Given the description of an element on the screen output the (x, y) to click on. 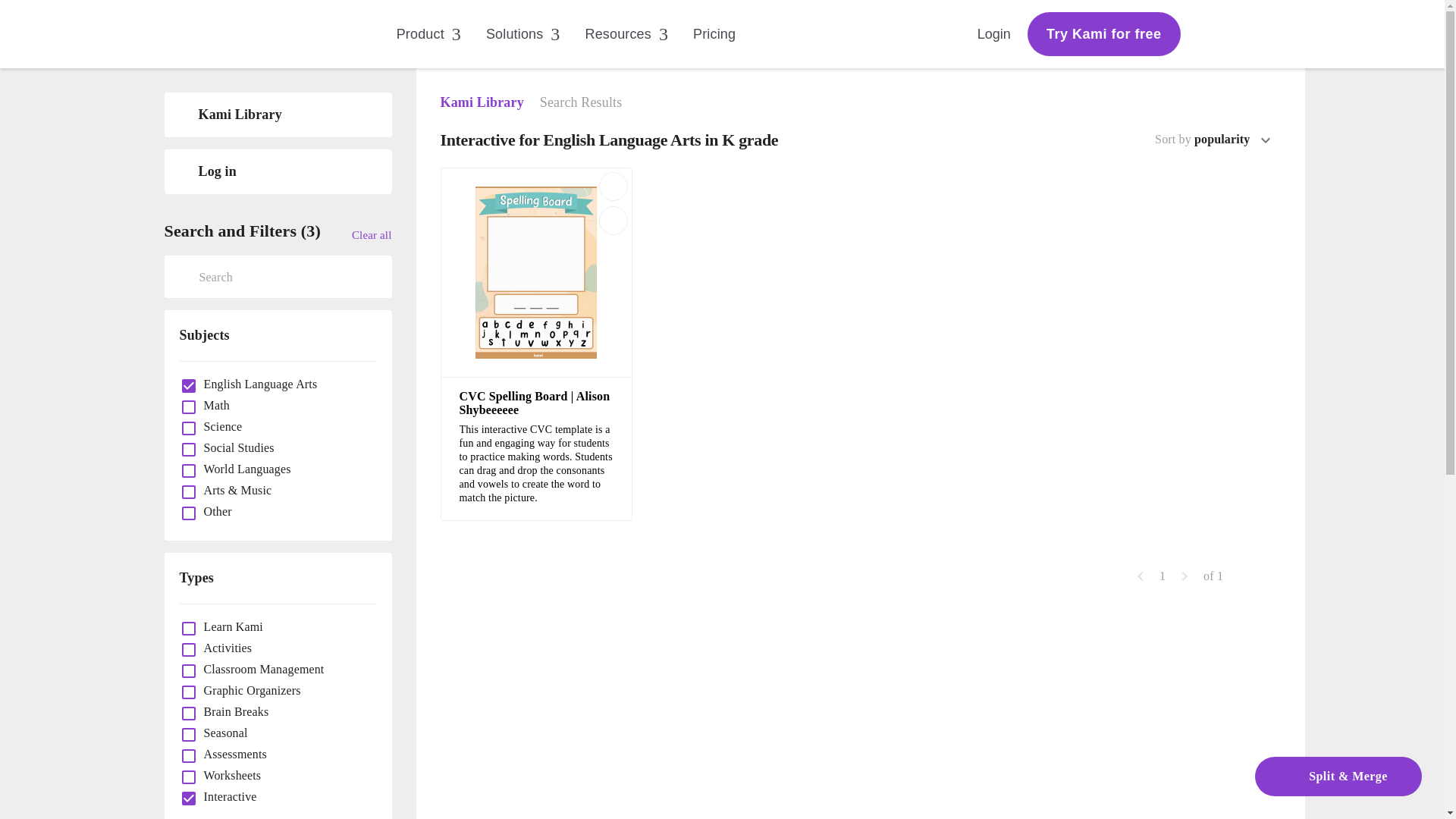
Pricing (726, 34)
Math (212, 405)
Other (213, 511)
Product (441, 33)
Clear all (371, 234)
Resources (639, 33)
Login (994, 33)
Social Studies (234, 447)
Worksheets (228, 775)
Solutions (535, 33)
